Given the description of an element on the screen output the (x, y) to click on. 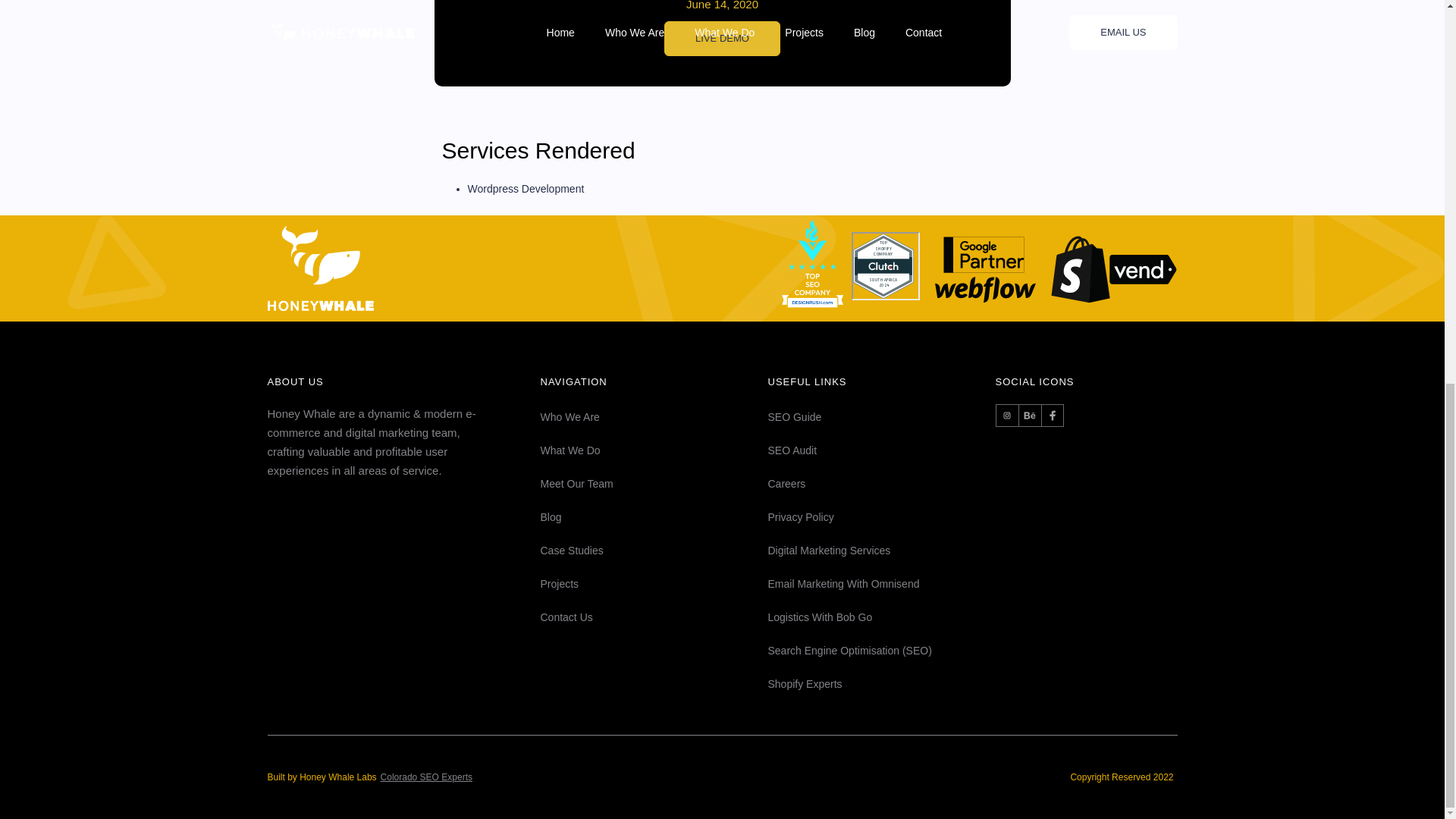
Privacy Policy (880, 516)
Blog (653, 516)
Meet Our Team (653, 483)
Top Clutch Shopify Company South Africa 2023 (884, 265)
What We Do (653, 450)
SEO Guide (880, 416)
Shopify Experts (880, 683)
Contact Us (653, 616)
Email Marketing With Omnisend (880, 583)
LIVE DEMO (721, 38)
Digital Marketing Services (880, 550)
Colorado SEO Experts (425, 777)
Projects (653, 583)
SEO Audit (880, 450)
Case Studies (653, 550)
